Given the description of an element on the screen output the (x, y) to click on. 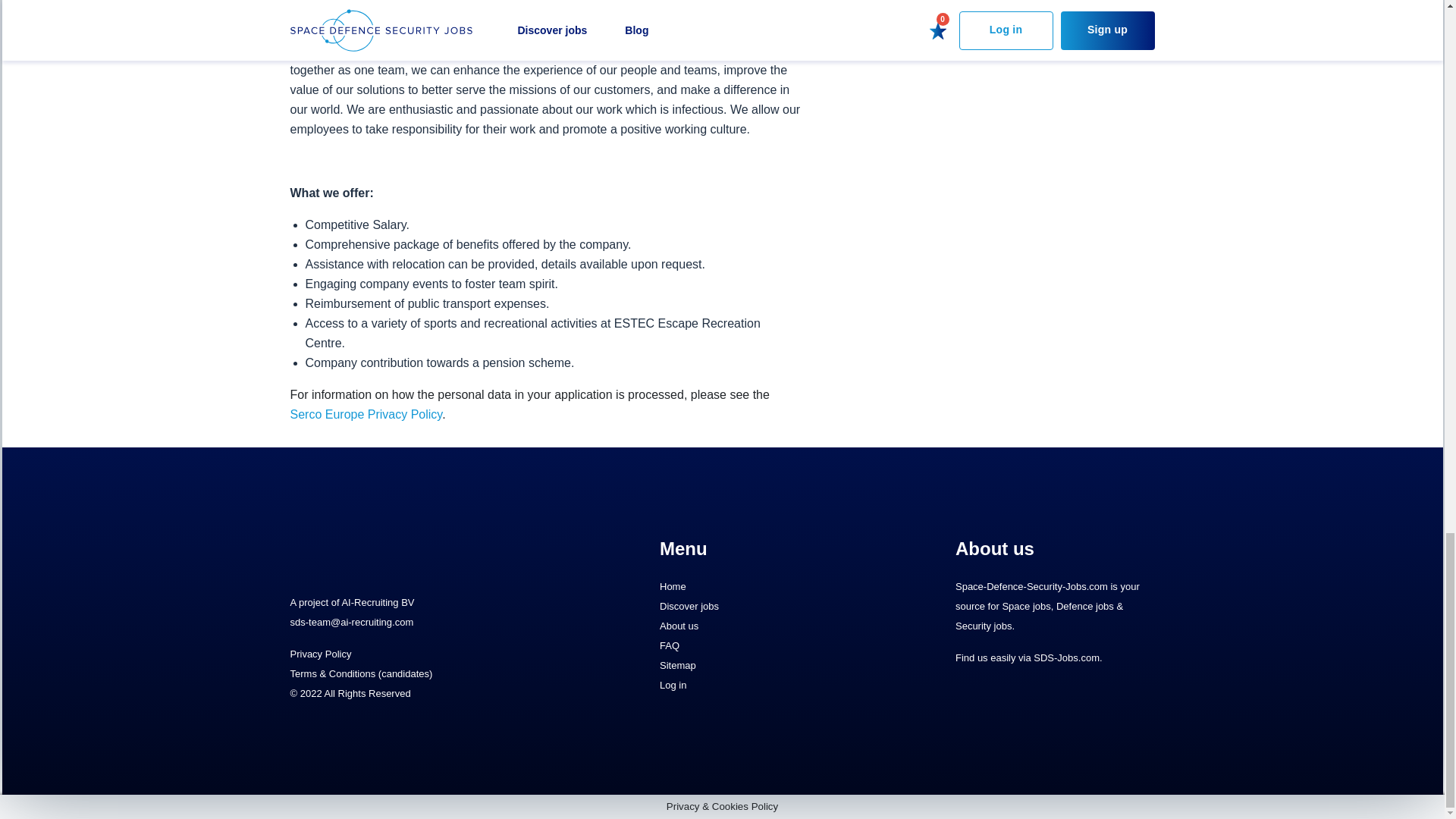
FAQ (759, 646)
Discover jobs (759, 606)
About us (759, 626)
Serco Europe Privacy Policy (365, 413)
Log in (759, 685)
Space Defence Security Jobs Footer Logo (380, 552)
Home (759, 587)
SDS-Jobs.com (1066, 657)
Security jobs (983, 625)
Privacy Policy (319, 654)
